Given the description of an element on the screen output the (x, y) to click on. 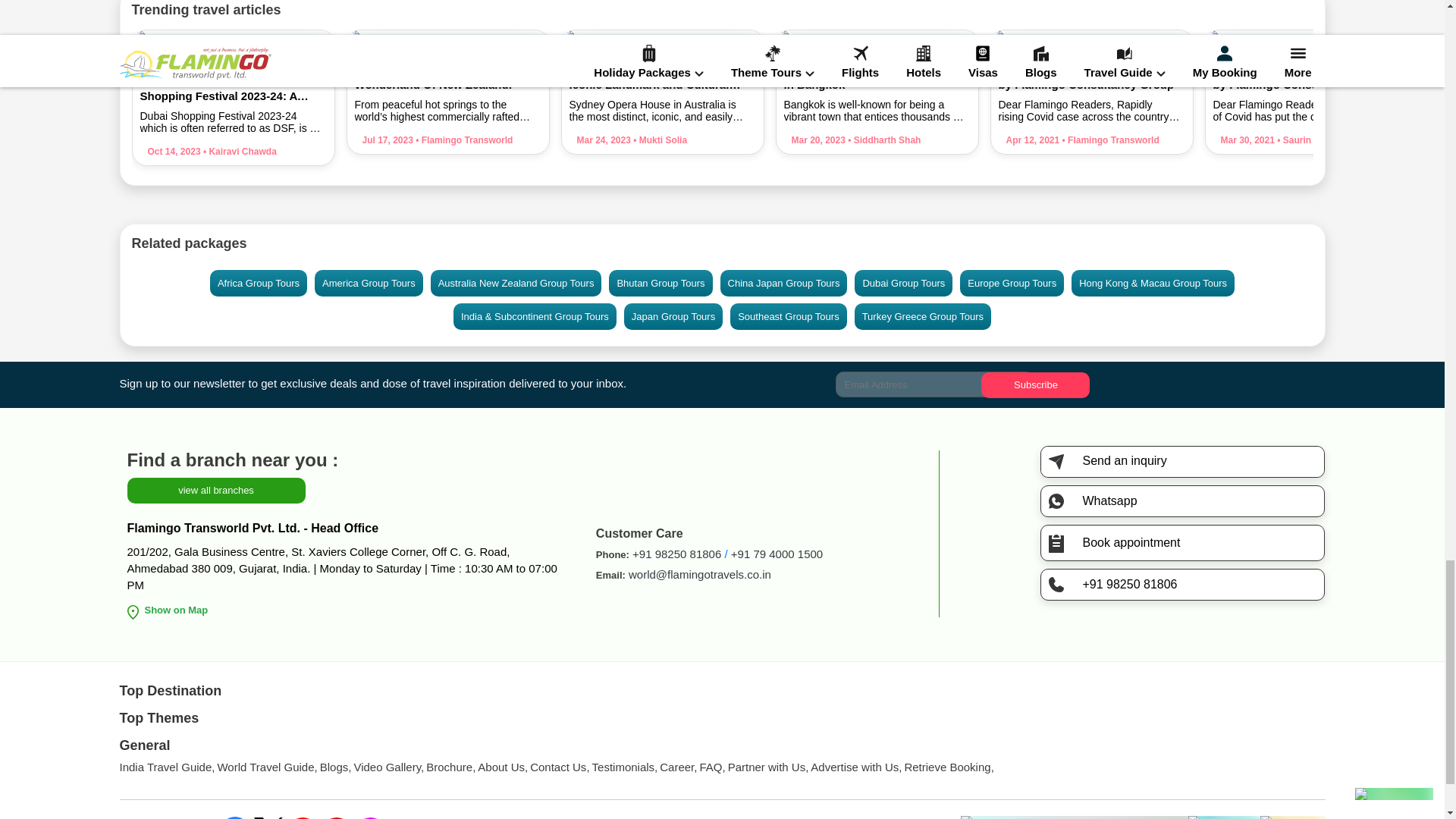
Flamingo Transworld (1108, 140)
Saurin Shah (1305, 140)
Flamingo Transworld (463, 140)
Mukti Solia (658, 140)
Kairavi Chawda (238, 151)
Siddharth Shah (883, 140)
